Given the description of an element on the screen output the (x, y) to click on. 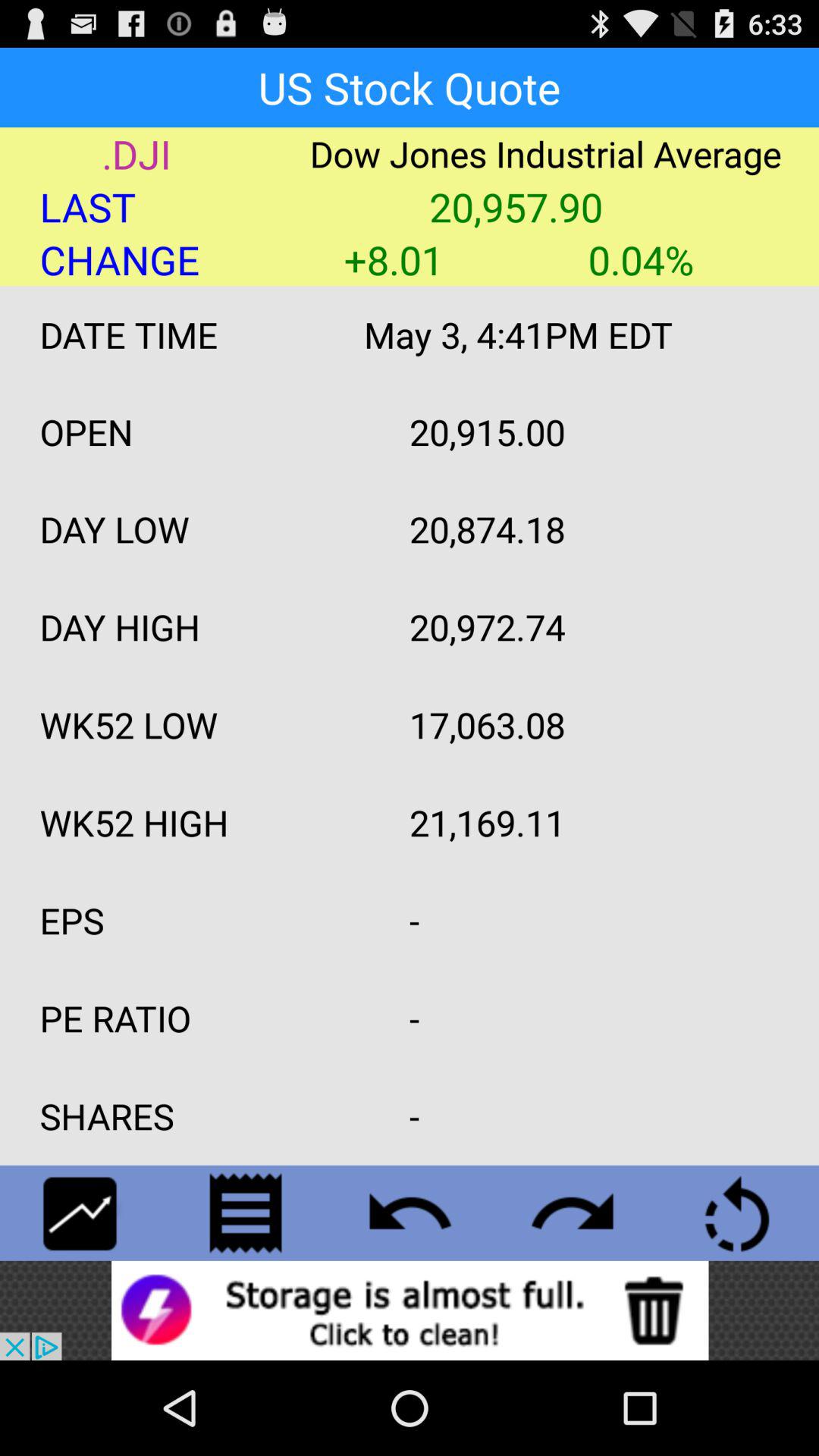
preview button (409, 1212)
